Given the description of an element on the screen output the (x, y) to click on. 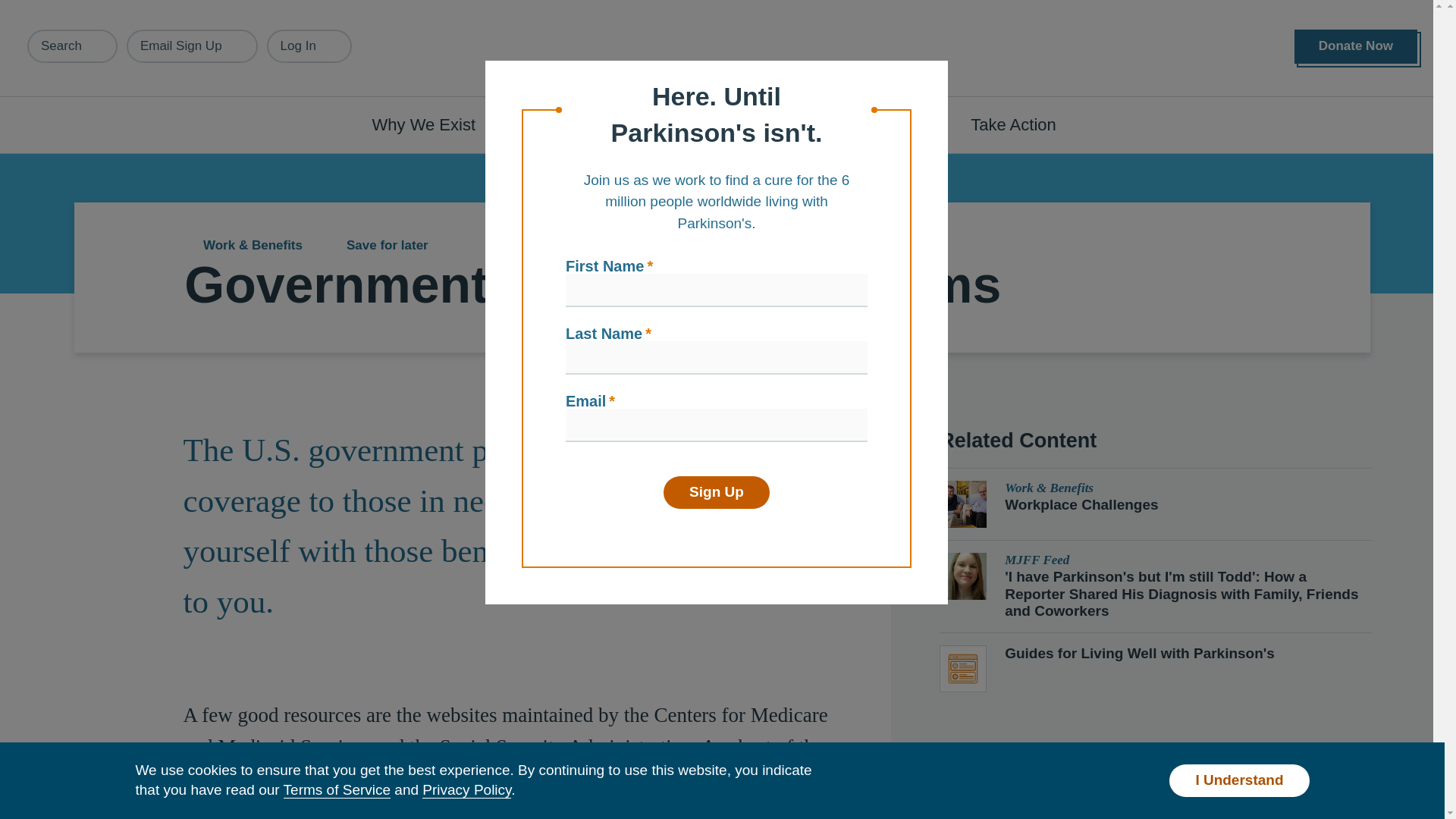
Donate Now (1355, 46)
Home Page (722, 48)
Search (72, 46)
Skip to main content (96, 7)
Why We Exist (432, 125)
Log In (309, 46)
Understanding Parkinson's (640, 125)
Email Sign Up (191, 46)
